Given the description of an element on the screen output the (x, y) to click on. 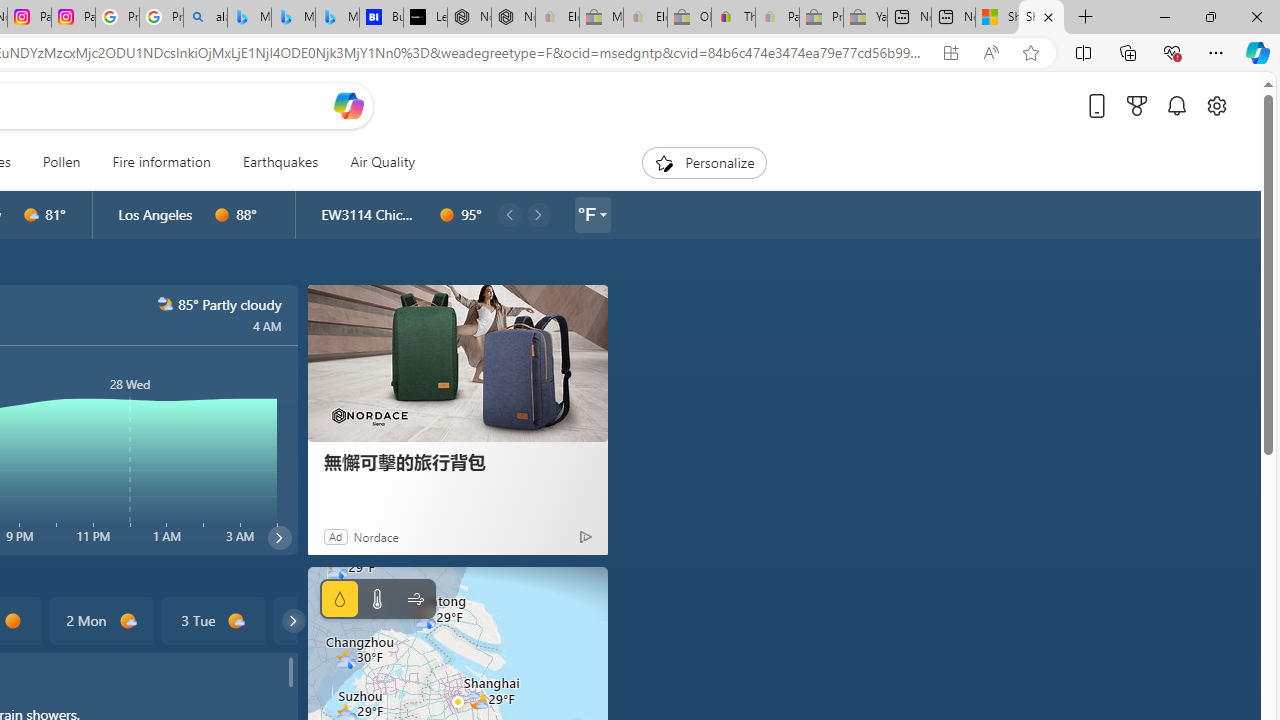
Pollen (61, 162)
n2000 (164, 303)
Earthquakes (280, 162)
Air Quality (382, 162)
4 Wed d1000 (324, 620)
Yard, Garden & Outdoor Living - Sleeping (865, 17)
Earthquakes (279, 162)
Threats and offensive language policy | eBay (733, 17)
